Given the description of an element on the screen output the (x, y) to click on. 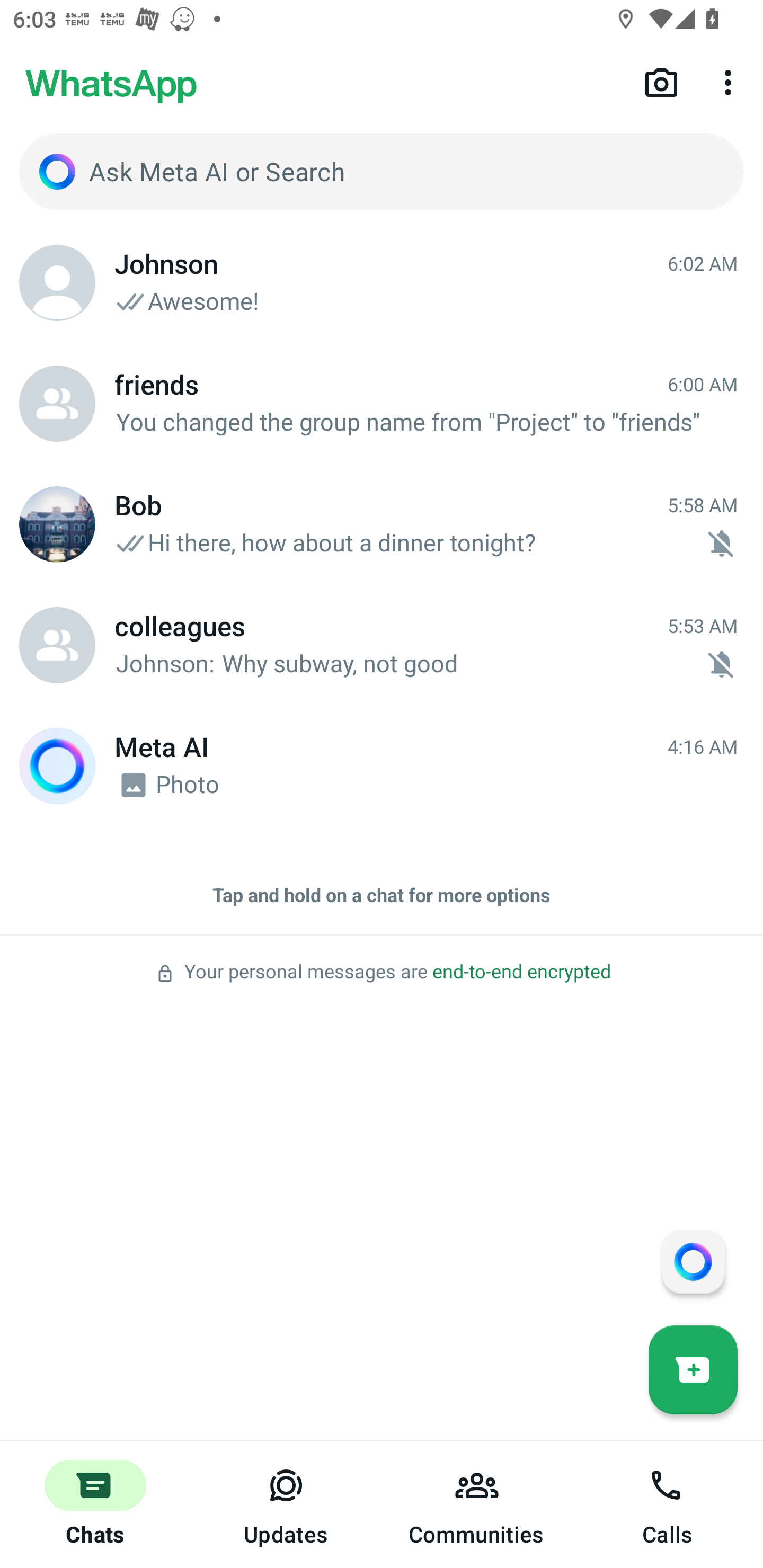
Camera (661, 81)
More options (731, 81)
Johnson Johnson 6:02 AM 6:02 AM Awesome! (381, 282)
Johnson (57, 282)
friends (57, 403)
Bob (57, 524)
colleagues (57, 644)
Meta AI Meta AI 4:16 AM 4:16 AM Photo (381, 765)
Meta AI (57, 765)
end-to-end encrypted (521, 972)
Message your assistant (692, 1261)
New chat (692, 1369)
Updates (285, 1504)
Communities (476, 1504)
Calls (667, 1504)
